Given the description of an element on the screen output the (x, y) to click on. 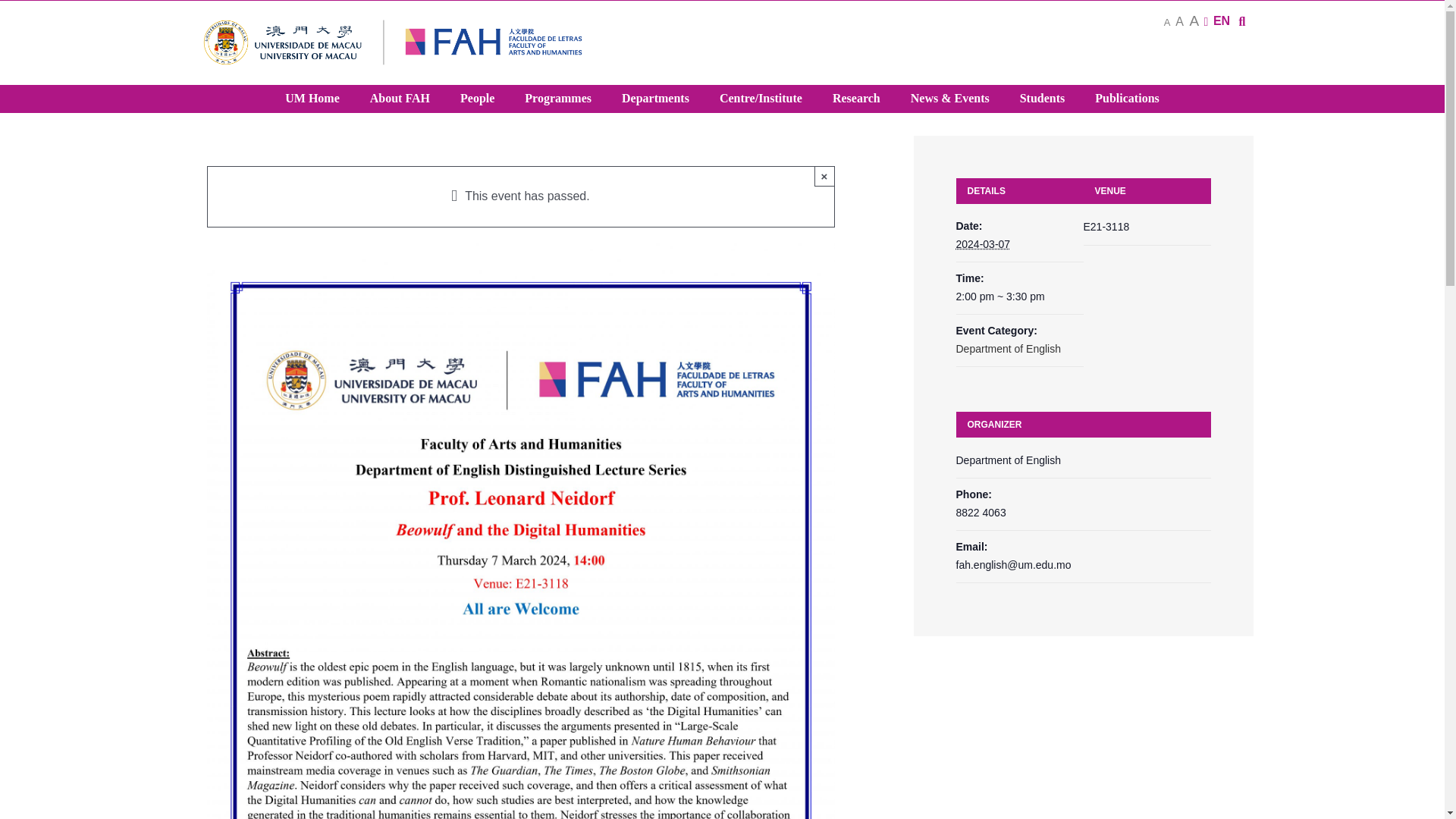
Departments (655, 98)
EN (1221, 20)
2024-03-07 (982, 244)
About FAH (400, 98)
UM Home (312, 98)
People (477, 98)
2024-03-07 (1019, 296)
Programmes (558, 98)
